Given the description of an element on the screen output the (x, y) to click on. 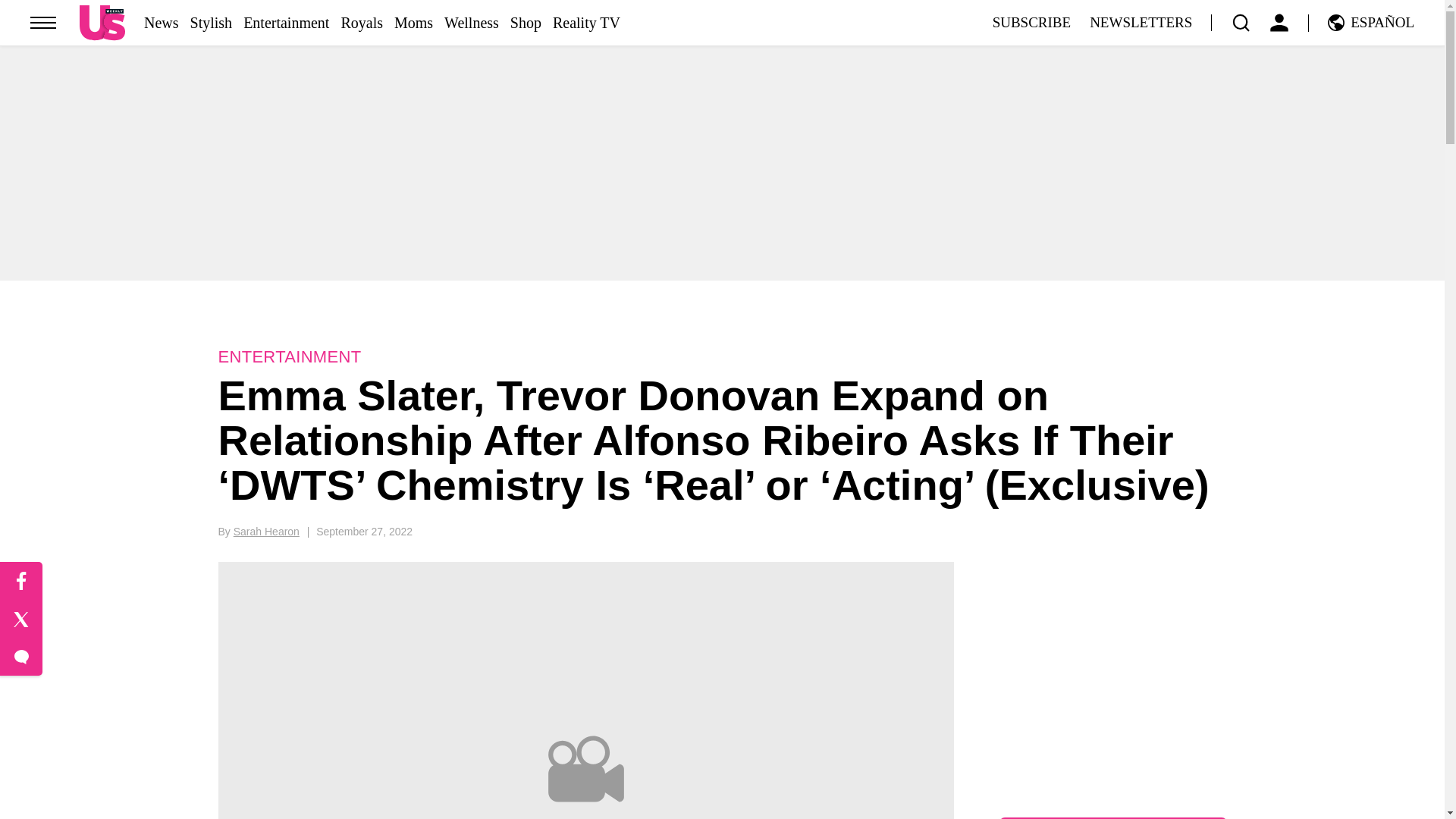
Stylish (211, 22)
Entertainment (286, 22)
Click to share on Twitter (21, 619)
Wellness (471, 22)
Us Weekly Magazine (102, 22)
Posts by Sarah Hearon (265, 531)
Royals (361, 22)
Moms (413, 22)
Click to share on Facebook (21, 581)
News (161, 22)
